Given the description of an element on the screen output the (x, y) to click on. 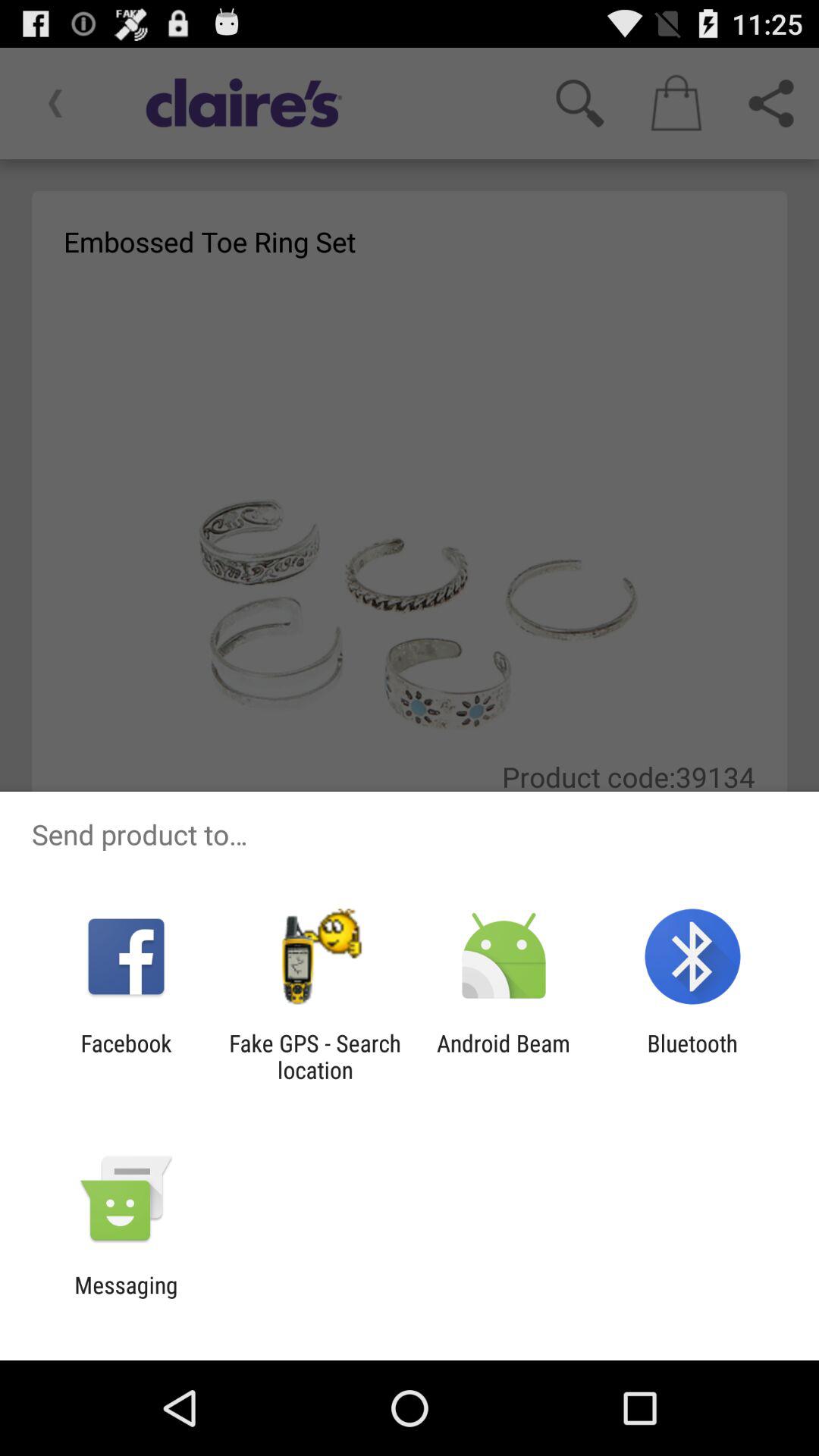
turn on the app next to the fake gps search (125, 1056)
